Given the description of an element on the screen output the (x, y) to click on. 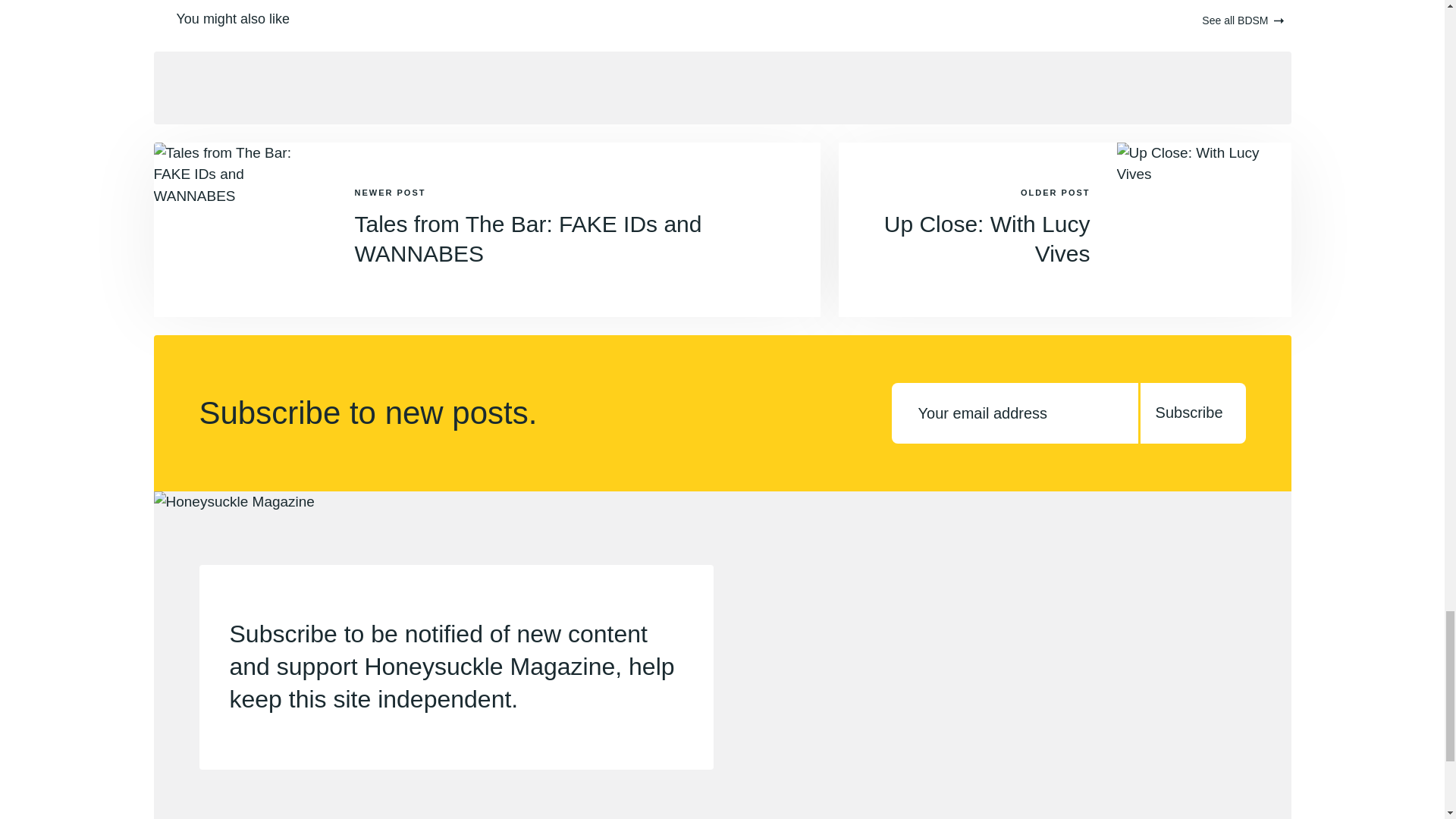
See all BDSM (1242, 20)
